Given the description of an element on the screen output the (x, y) to click on. 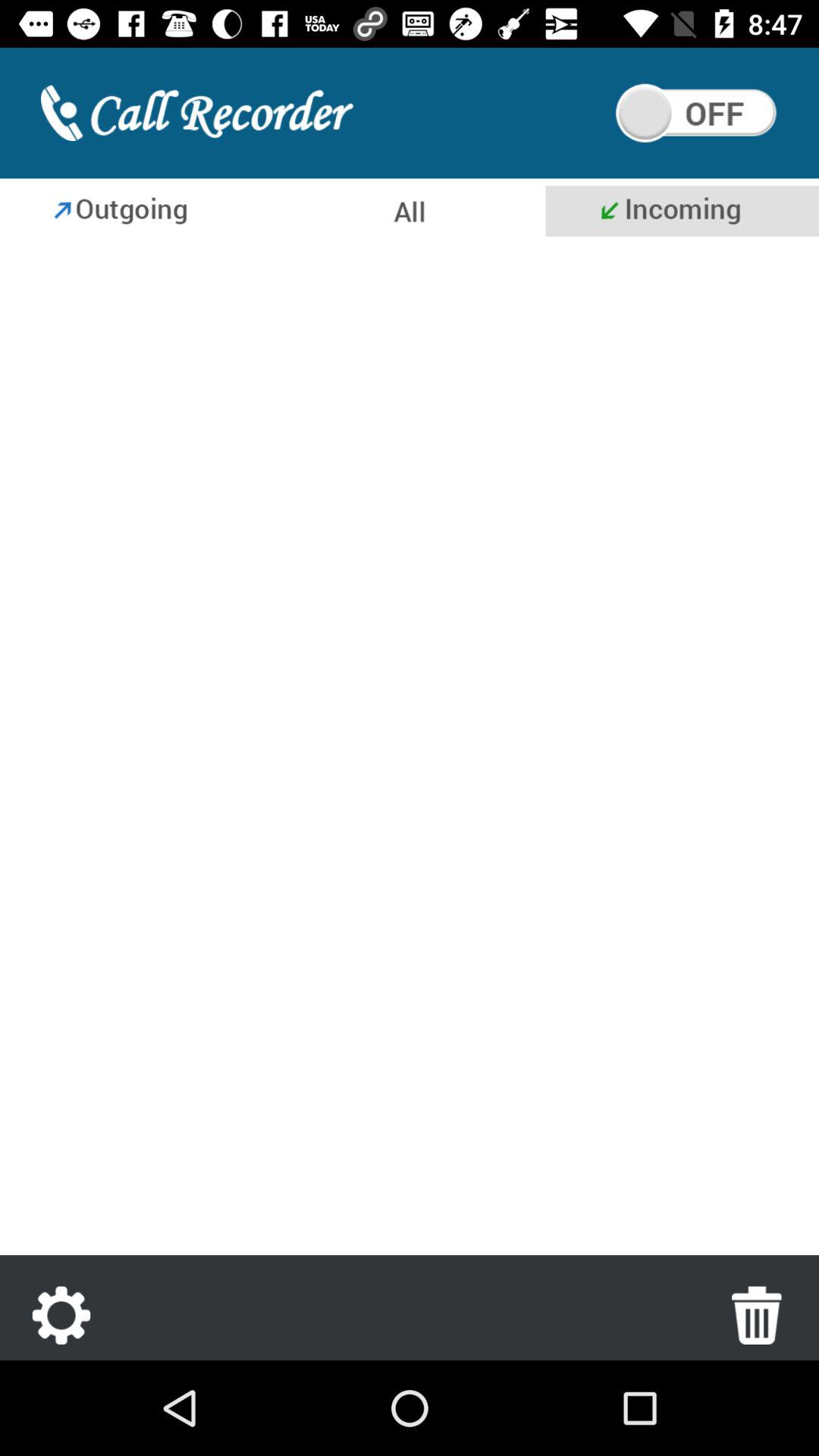
launch icon at the bottom right corner (756, 1315)
